Given the description of an element on the screen output the (x, y) to click on. 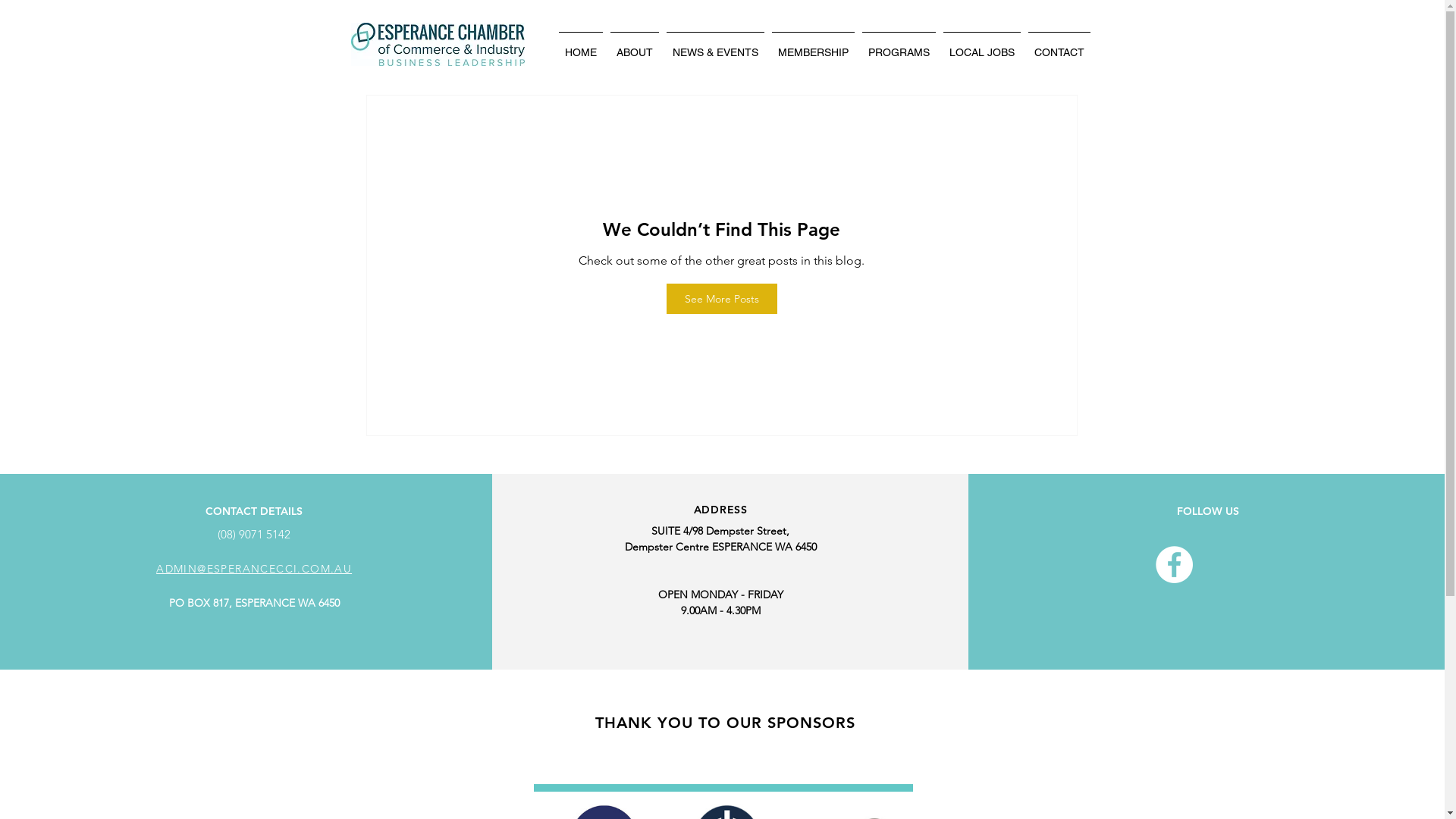
See More Posts Element type: text (720, 298)
PROGRAMS Element type: text (898, 45)
HOME Element type: text (580, 45)
LOCAL JOBS Element type: text (980, 45)
ADMIN@ESPERANCECCI.COM.AU Element type: text (253, 568)
MEMBERSHIP Element type: text (812, 45)
CONTACT Element type: text (1058, 45)
ABOUT Element type: text (634, 45)
NEWS & EVENTS Element type: text (715, 45)
